Given the description of an element on the screen output the (x, y) to click on. 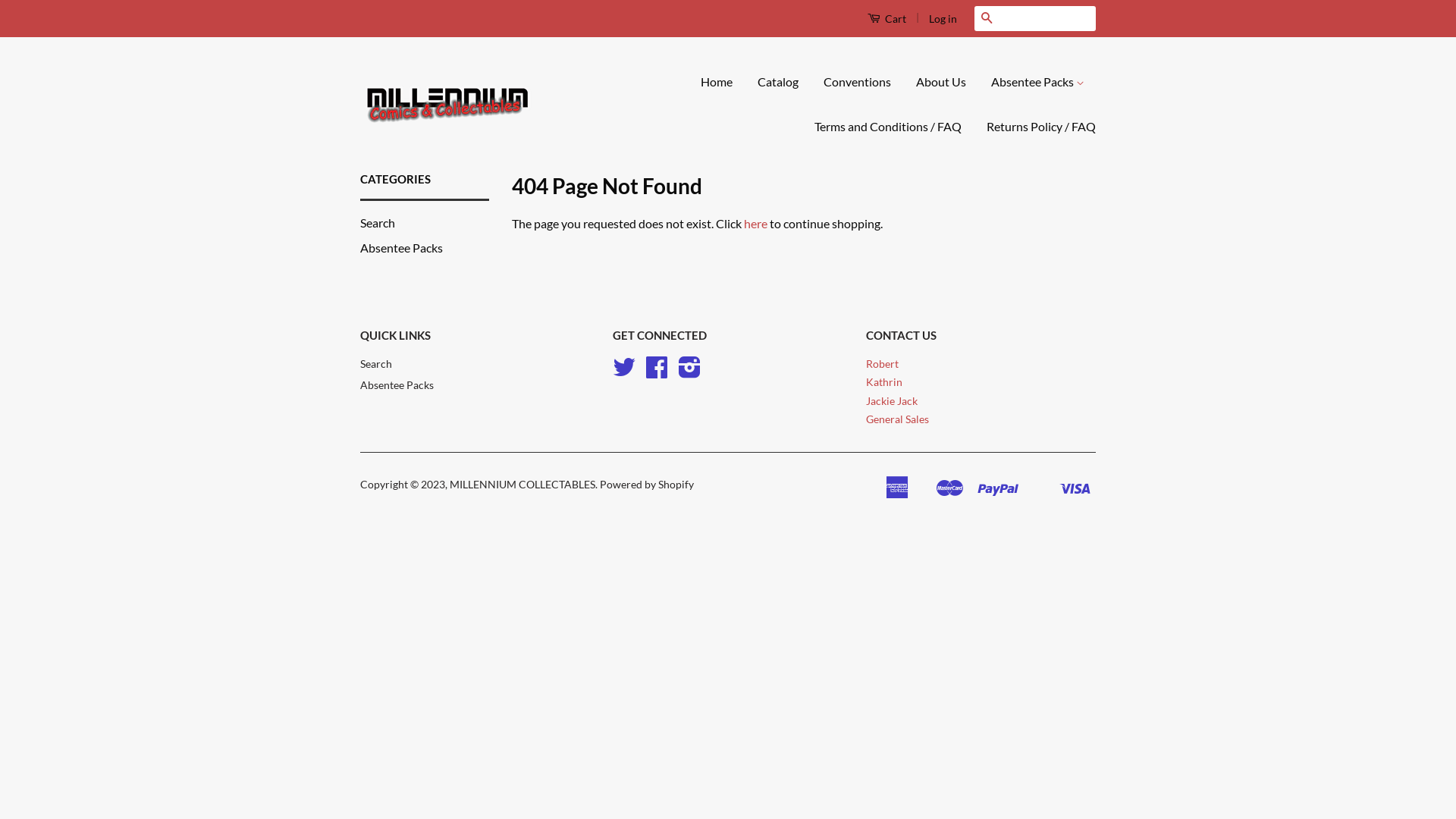
Jackie Jack Element type: text (891, 401)
Returns Policy / FAQ Element type: text (1035, 126)
Twitter Element type: text (623, 372)
Absentee Packs Element type: text (401, 247)
Home Element type: text (721, 81)
Terms and Conditions / FAQ Element type: text (887, 126)
Robert Element type: text (882, 363)
Absentee Packs Element type: text (1037, 81)
Instagram Element type: text (689, 372)
Conventions Element type: text (857, 81)
Cart Element type: text (886, 17)
Facebook Element type: text (656, 372)
Absentee Packs Element type: text (396, 385)
General Sales Element type: text (897, 419)
Search Element type: text (986, 18)
Powered by Shopify Element type: text (646, 484)
Catalog Element type: text (777, 81)
About Us Element type: text (940, 81)
Log in Element type: text (942, 18)
here Element type: text (755, 222)
Kathrin Element type: text (884, 382)
Search Element type: text (376, 363)
Search Element type: text (377, 222)
